Given the description of an element on the screen output the (x, y) to click on. 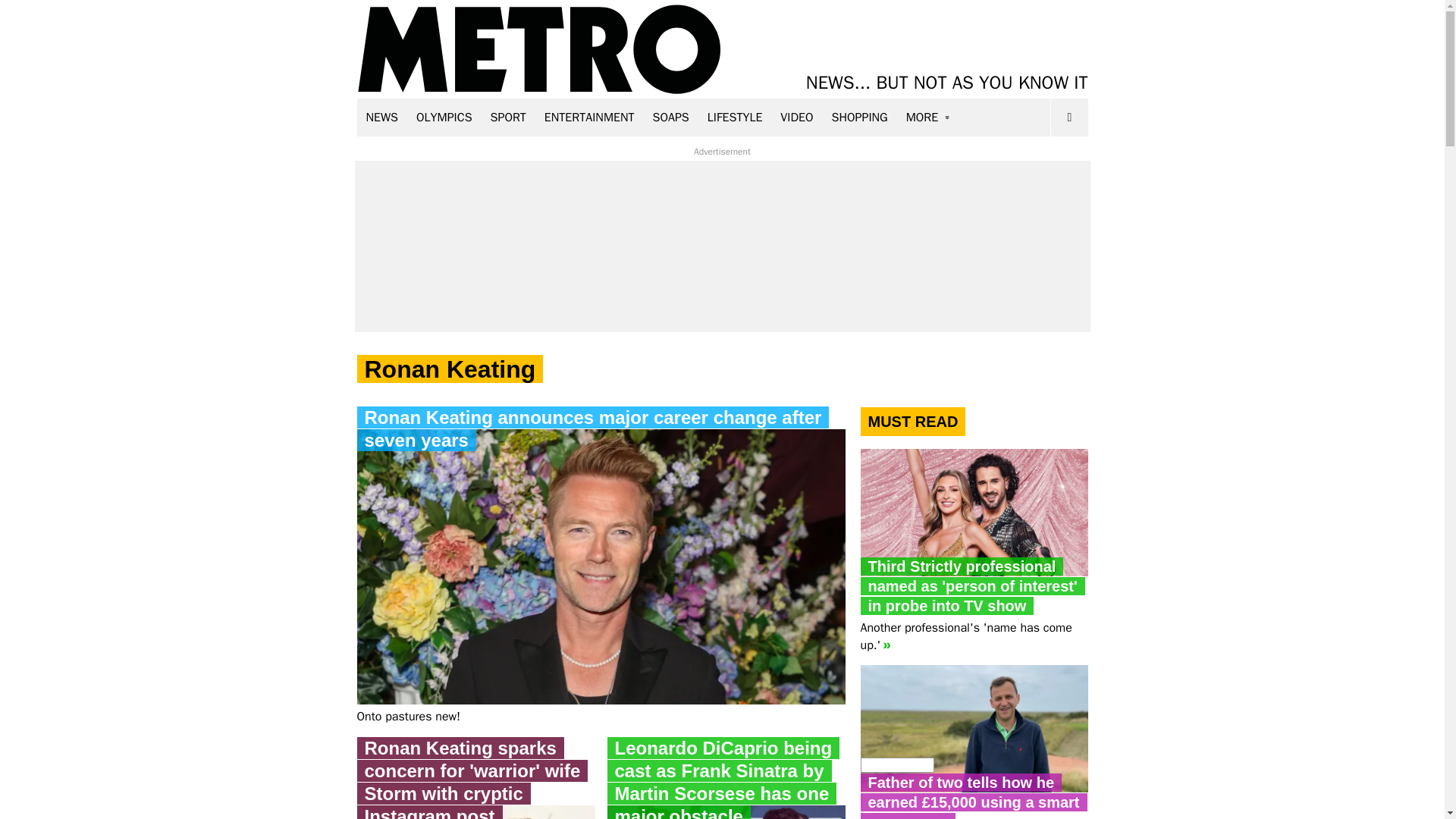
ENTERTAINMENT (589, 117)
SPORT (508, 117)
Metro (539, 50)
LIFESTYLE (734, 117)
NEWS (381, 117)
OLYMPICS (444, 117)
SOAPS (670, 117)
